Given the description of an element on the screen output the (x, y) to click on. 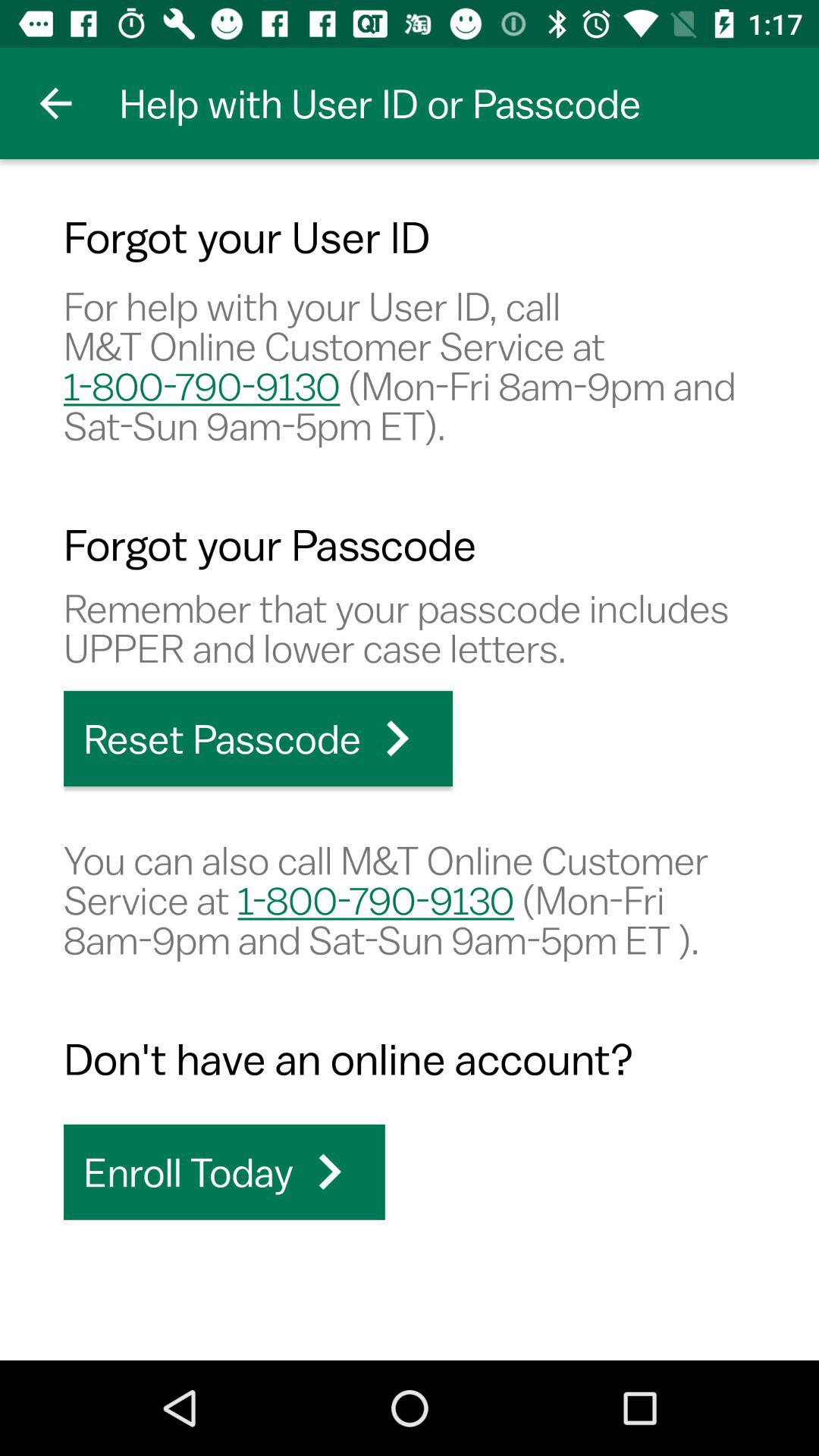
flip to the reset passcode (257, 738)
